Given the description of an element on the screen output the (x, y) to click on. 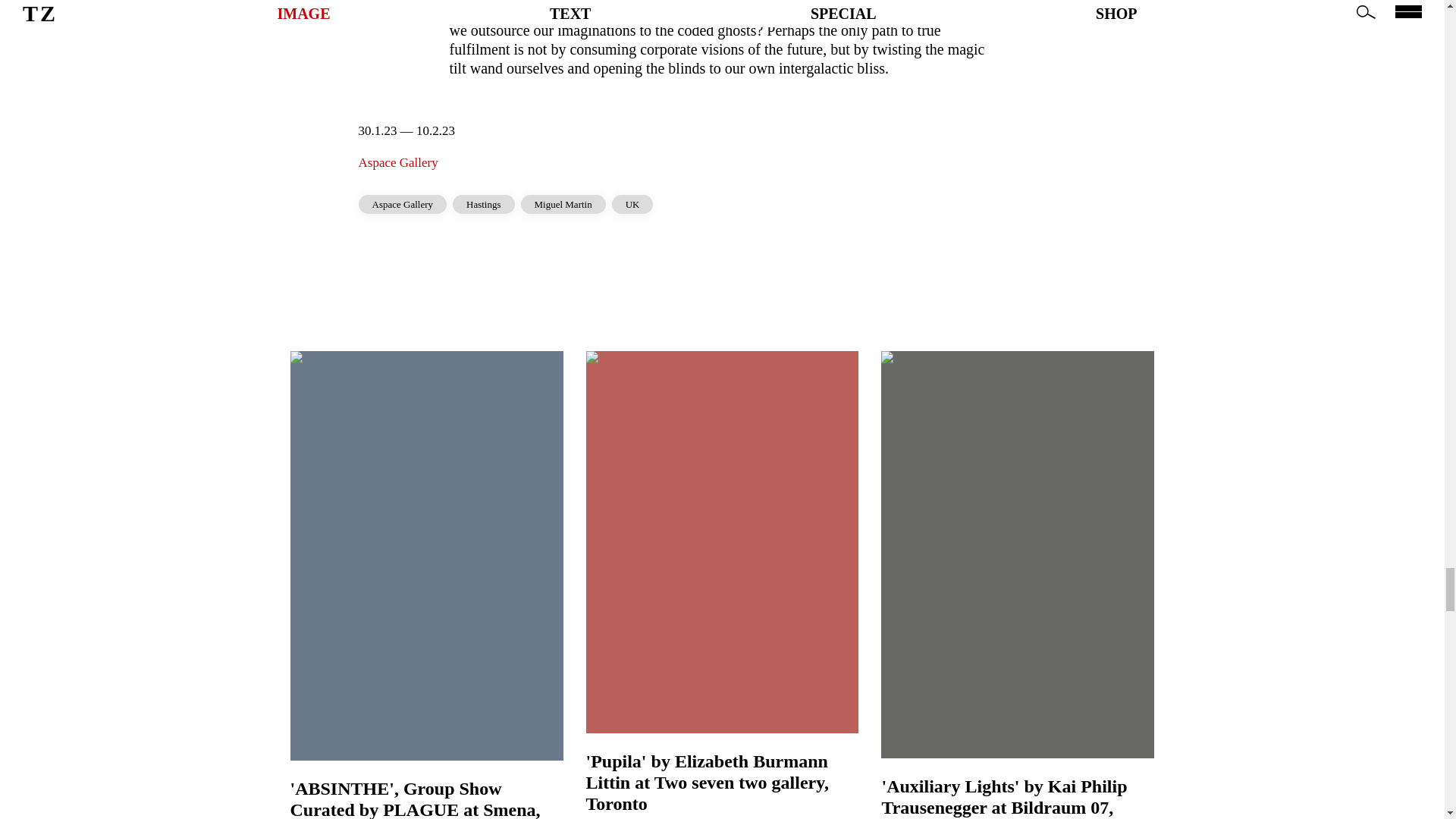
'ABSINTHE', Group Show Curated by PLAGUE at Smena, Kazan (426, 798)
UK (632, 203)
Hastings (483, 203)
Aspace Gallery (398, 162)
Miguel Martin (562, 203)
Aspace Gallery (402, 203)
